Given the description of an element on the screen output the (x, y) to click on. 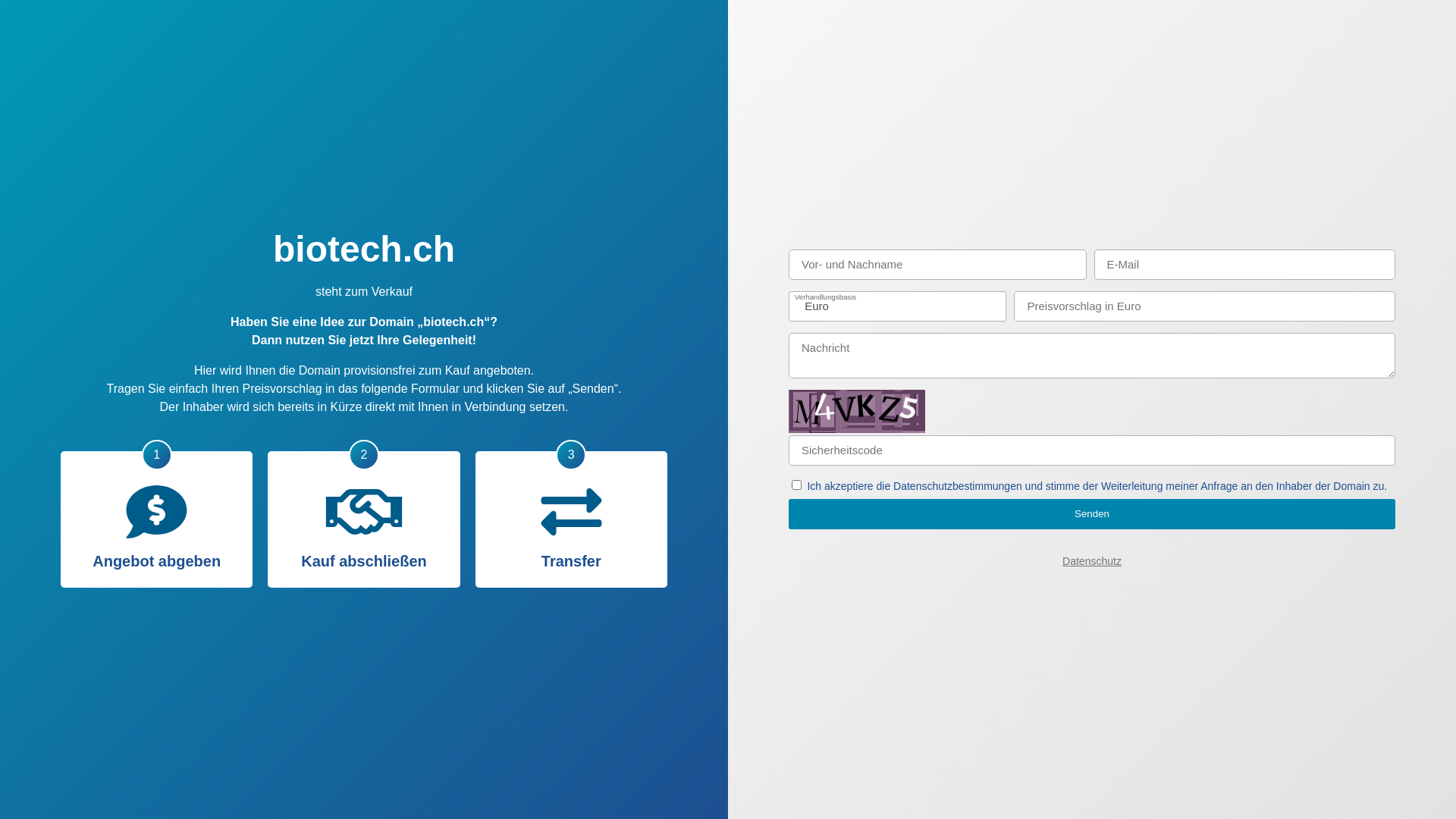
Angebot abgeben Element type: hover (156, 511)
Transfer Element type: hover (571, 511)
Senden Element type: text (1091, 513)
Datenschutz Element type: text (1091, 561)
